Given the description of an element on the screen output the (x, y) to click on. 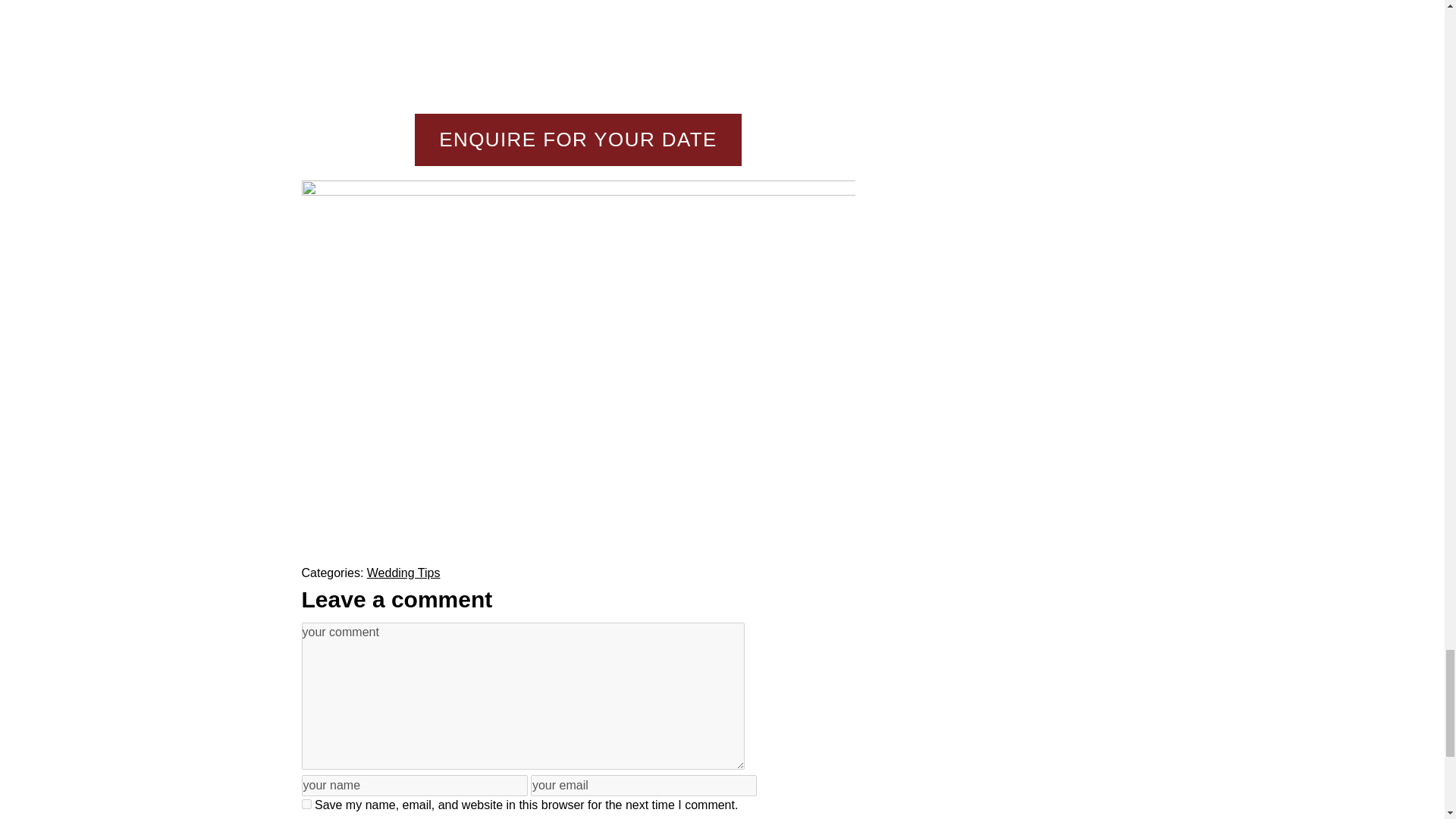
Wedding Tips (403, 572)
ENQUIRE FOR YOUR DATE (577, 140)
yes (306, 804)
